Given the description of an element on the screen output the (x, y) to click on. 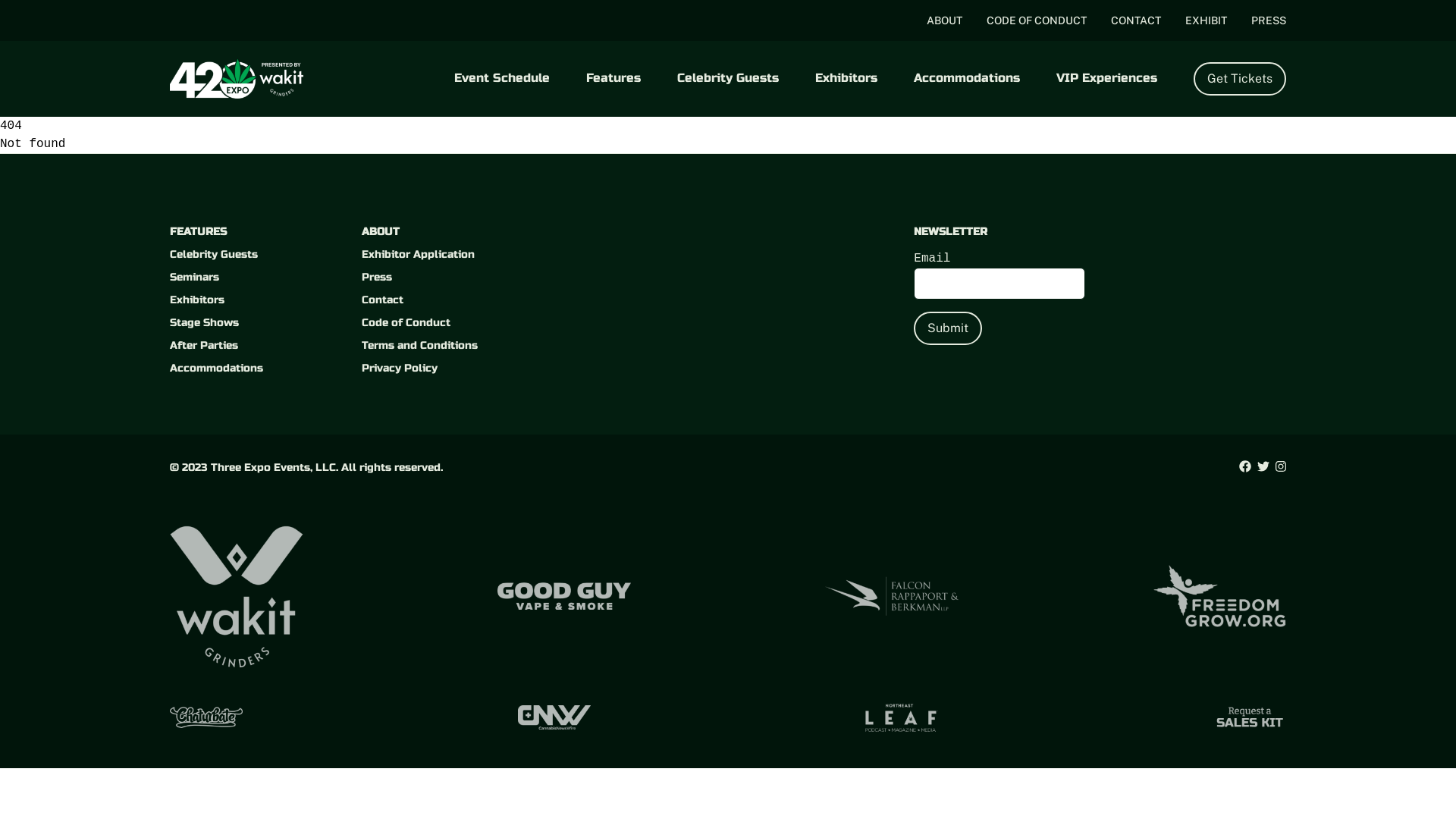
Exhibitors Element type: text (196, 299)
Accommodations Element type: text (216, 367)
Contact Element type: text (382, 299)
VIP Experiences Element type: text (1106, 77)
Exhibitor Application Element type: text (417, 253)
Privacy Policy Element type: text (399, 367)
Submit Element type: text (947, 328)
Stage Shows Element type: text (203, 322)
ABOUT Element type: text (944, 20)
After Parties Element type: text (203, 344)
Celebrity Guests Element type: text (727, 77)
Event Schedule Element type: text (501, 77)
CONTACT Element type: text (1135, 20)
Celebrity Guests Element type: text (213, 253)
EXHIBIT Element type: text (1205, 20)
Exhibitors Element type: text (846, 77)
Code of Conduct Element type: text (405, 322)
Accommodations Element type: text (966, 77)
Seminars Element type: text (194, 276)
Terms and Conditions Element type: text (419, 344)
Press Element type: text (376, 276)
CODE OF CONDUCT Element type: text (1036, 20)
PRESS Element type: text (1268, 20)
Get Tickets Element type: text (1239, 78)
Features Element type: text (613, 77)
